Given the description of an element on the screen output the (x, y) to click on. 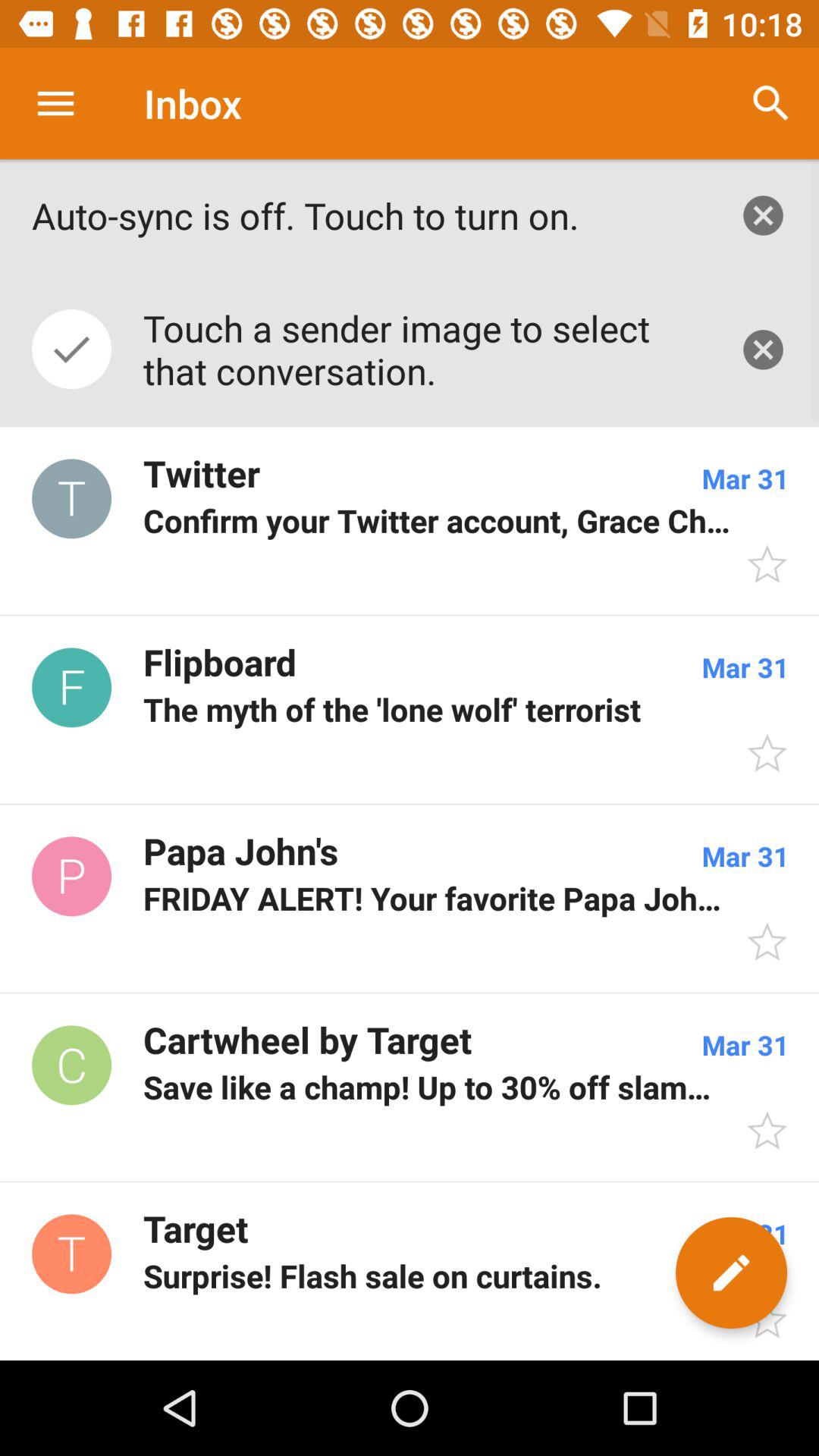
press the icon below the auto sync is (409, 365)
